Given the description of an element on the screen output the (x, y) to click on. 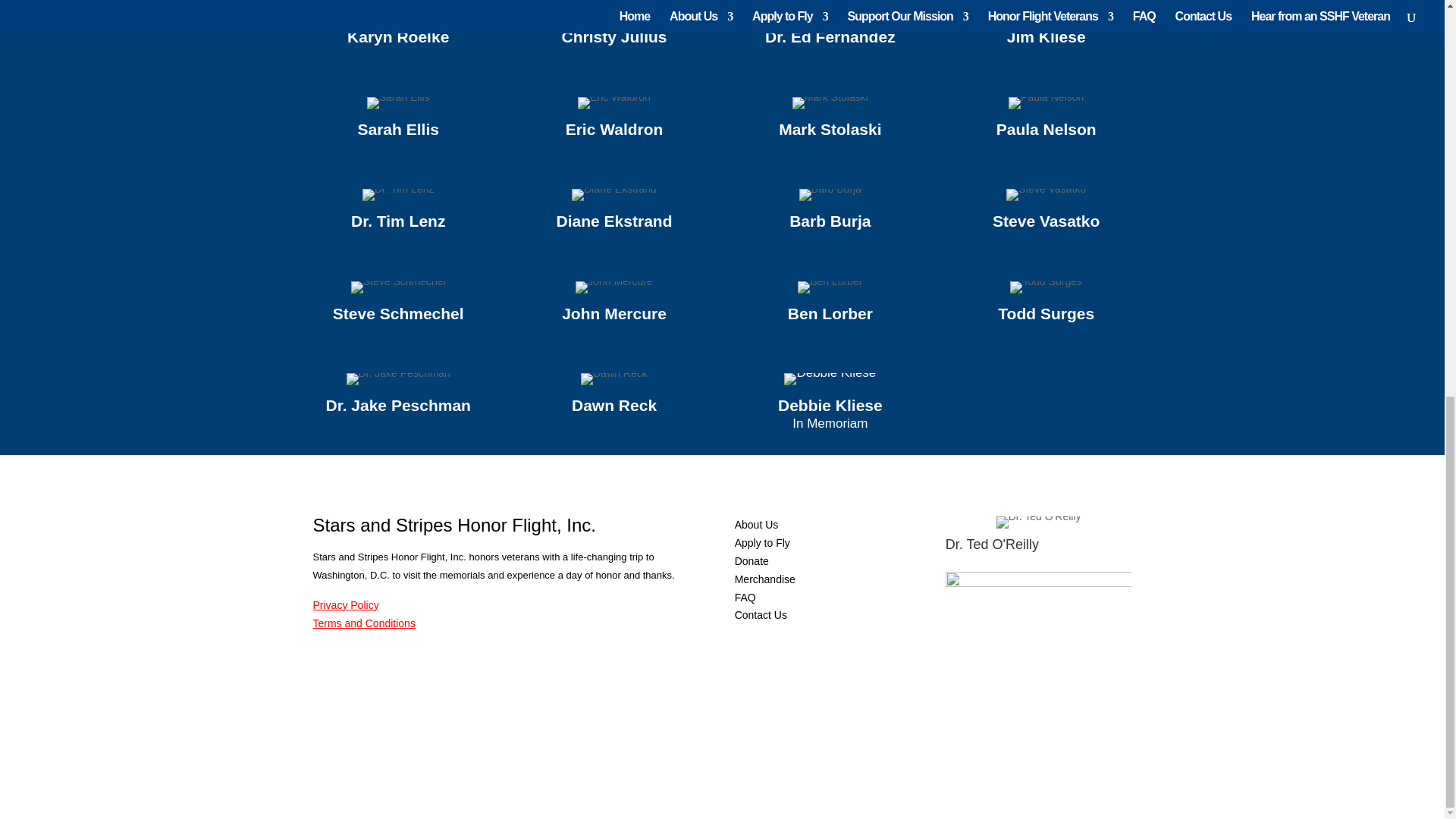
FAQ (745, 597)
Merchandise (764, 579)
Contact Us (761, 614)
Apply to Fly (762, 542)
Donate (751, 561)
Privacy Policy (345, 604)
About Us (756, 524)
Terms and Conditions (363, 623)
